Given the description of an element on the screen output the (x, y) to click on. 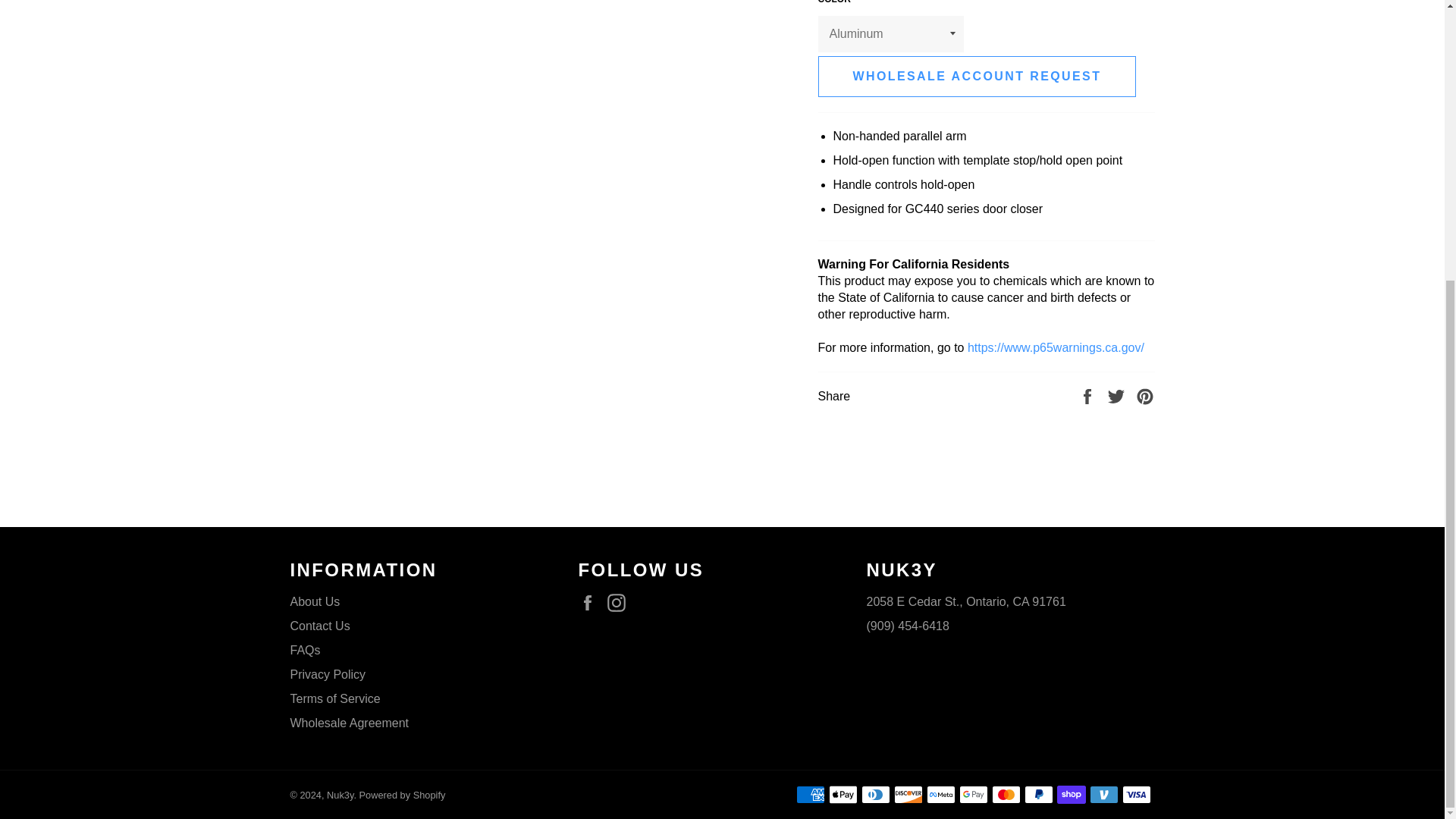
California Prop 65 (1056, 347)
Share on Facebook (1088, 395)
Nuk3y on Facebook (591, 602)
Tweet on Twitter (1117, 395)
Nuk3y on Instagram (620, 602)
Pin on Pinterest (1144, 395)
